Given the description of an element on the screen output the (x, y) to click on. 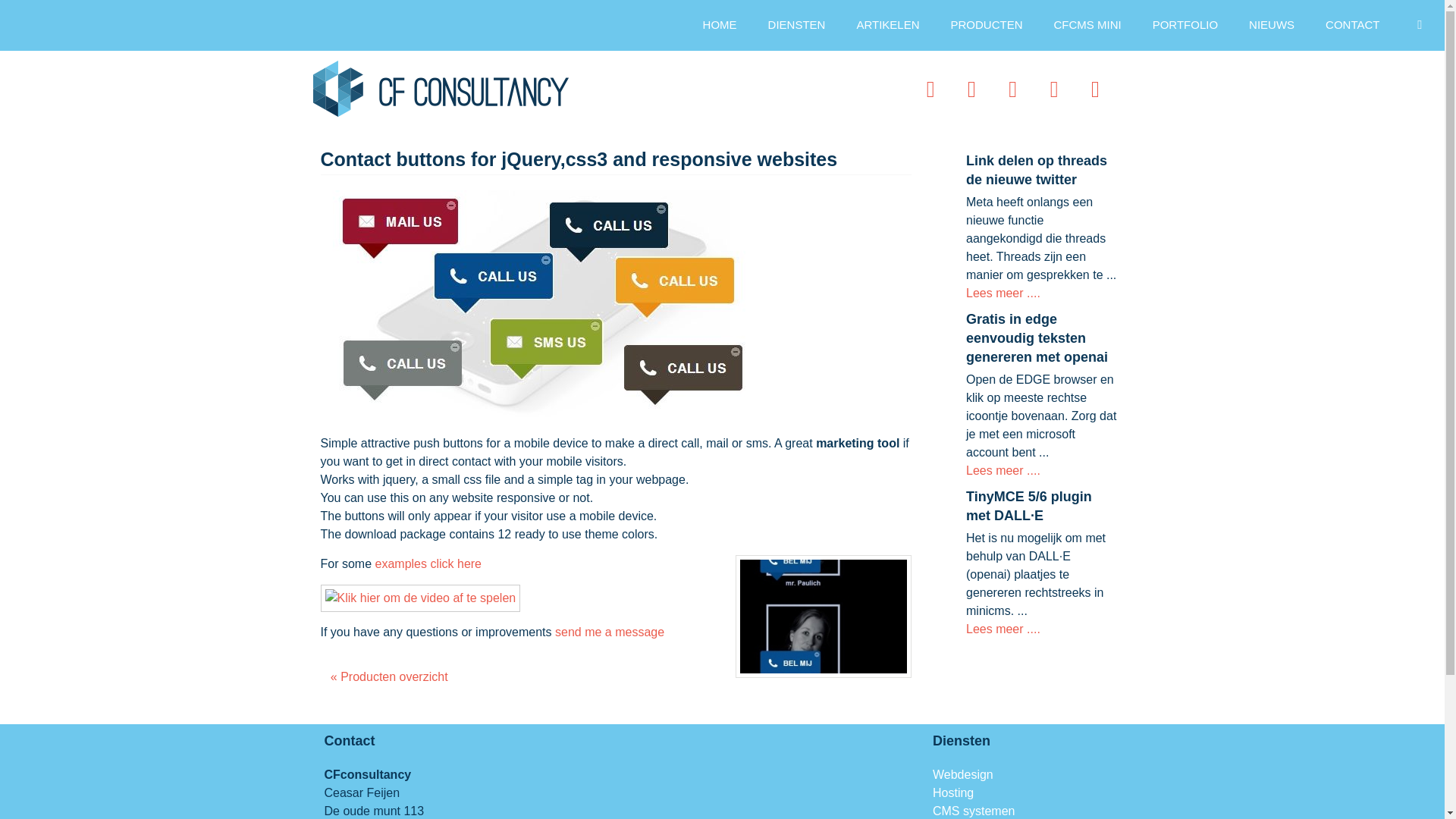
Website en cms diensten (796, 25)
Website beheer cms (1088, 25)
portfolio websites (1185, 25)
ARTIKELEN (887, 25)
Webdesign producten (987, 25)
NIEUWS (1271, 25)
PORTFOLIO (1185, 25)
HOME (719, 25)
CONTACT (1352, 25)
PORTFOLIO (1185, 25)
CONTACT (1352, 25)
DIENSTEN (796, 25)
Websites en beheer systemen (719, 25)
examples click here (428, 563)
NIEUWS (1271, 25)
